Given the description of an element on the screen output the (x, y) to click on. 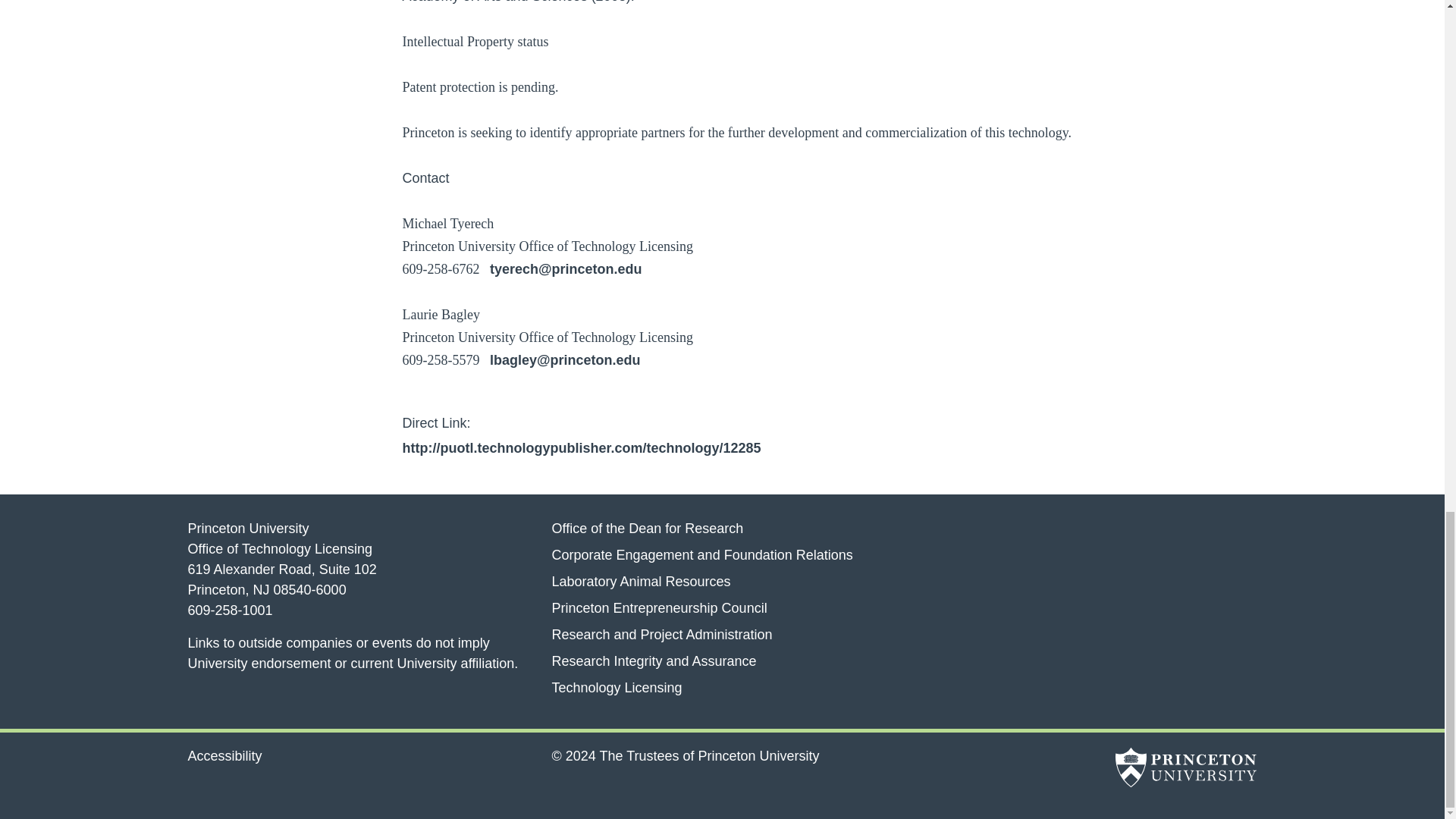
Office of the Dean for Research (646, 528)
Princeton University (1185, 770)
